Given the description of an element on the screen output the (x, y) to click on. 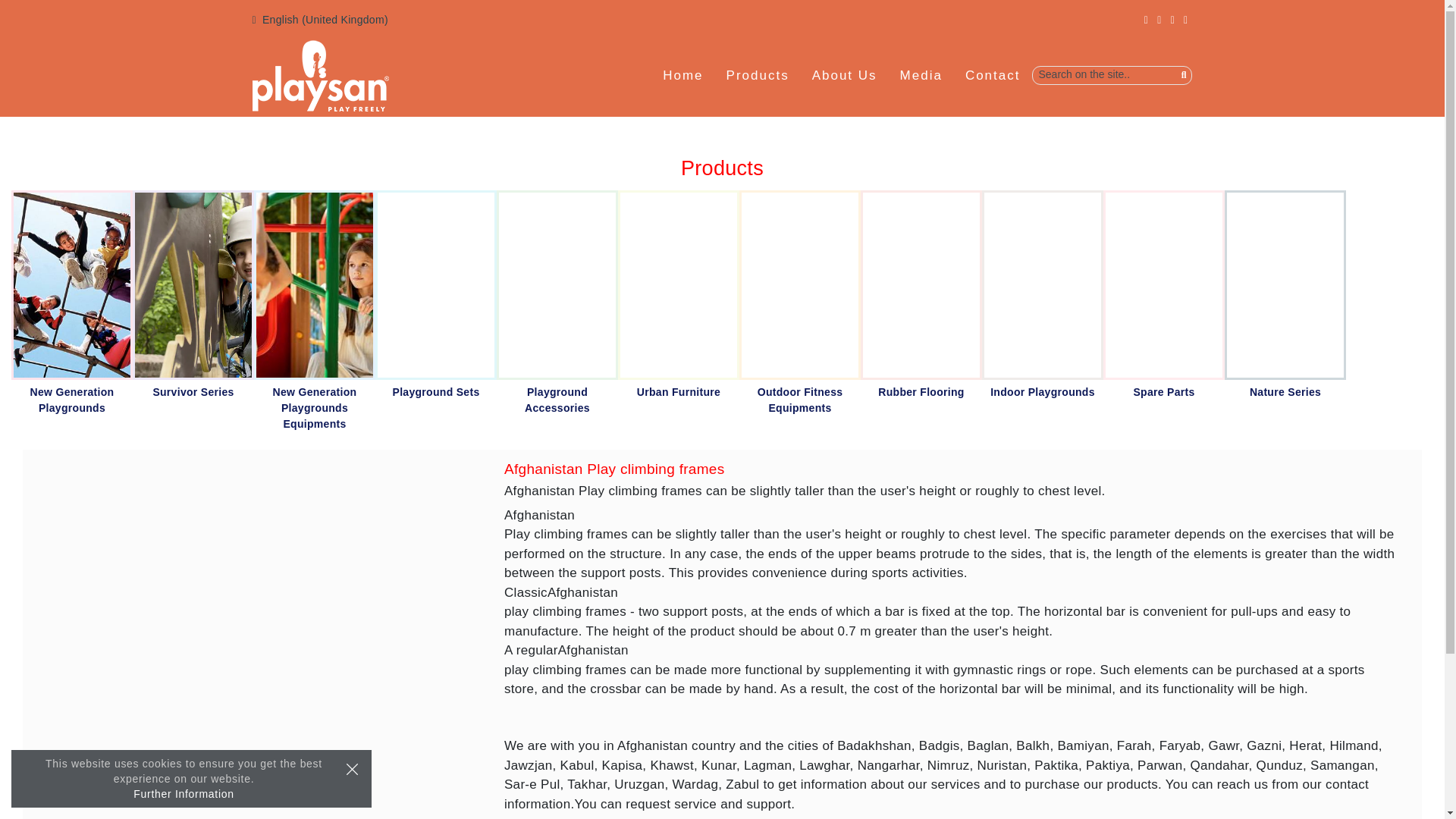
About Us (844, 75)
Further Information (182, 793)
Products (757, 75)
Home (682, 75)
Contact (992, 75)
Media (920, 75)
